Given the description of an element on the screen output the (x, y) to click on. 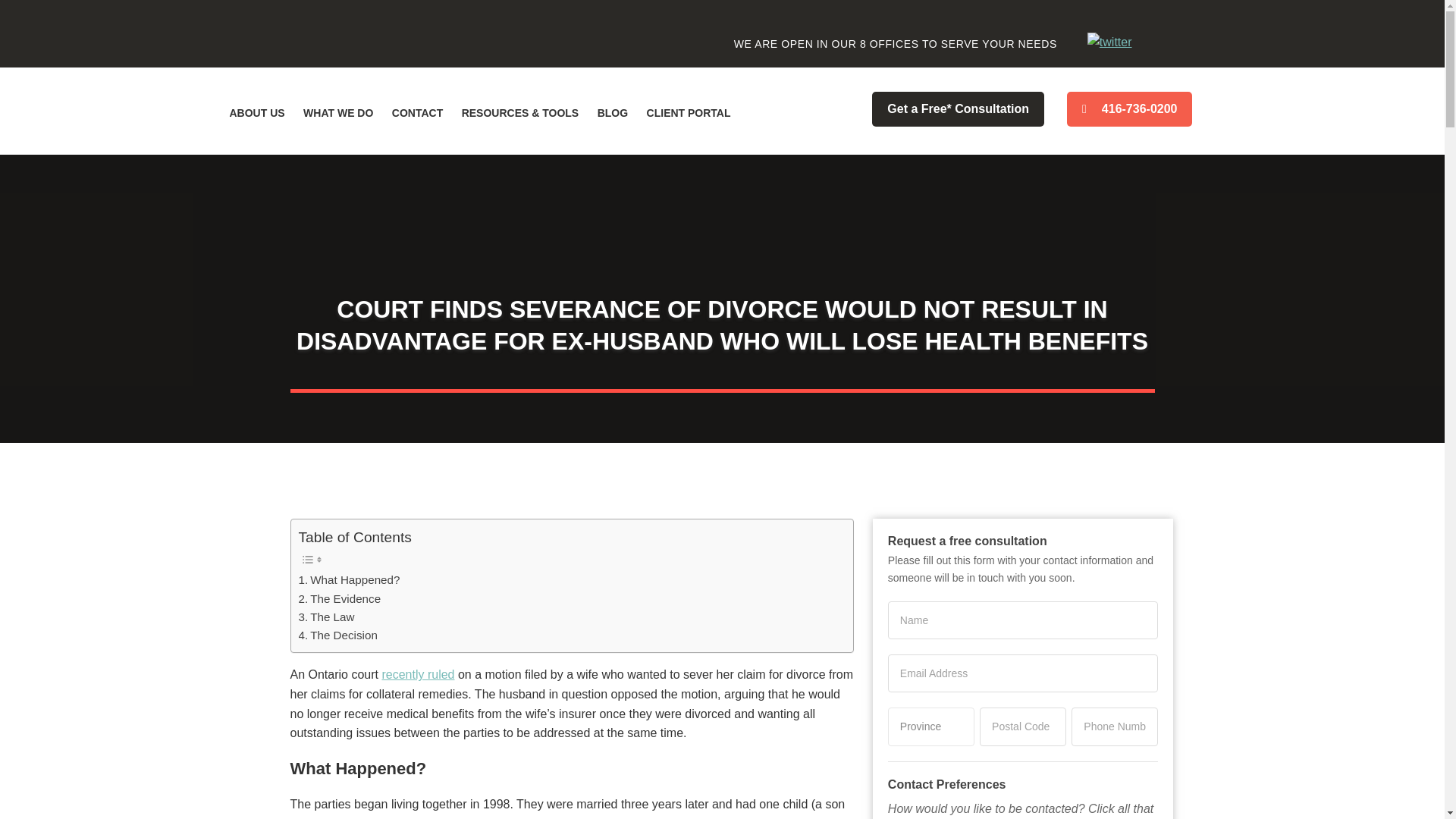
CLIENT PORTAL (688, 112)
416-736-0200 (1129, 108)
What Happened? (349, 579)
BLOG (611, 112)
ABOUT US (256, 112)
WHAT WE DO (337, 112)
The Evidence (339, 598)
CONTACT (416, 112)
The Decision (337, 635)
The Law (326, 617)
